Given the description of an element on the screen output the (x, y) to click on. 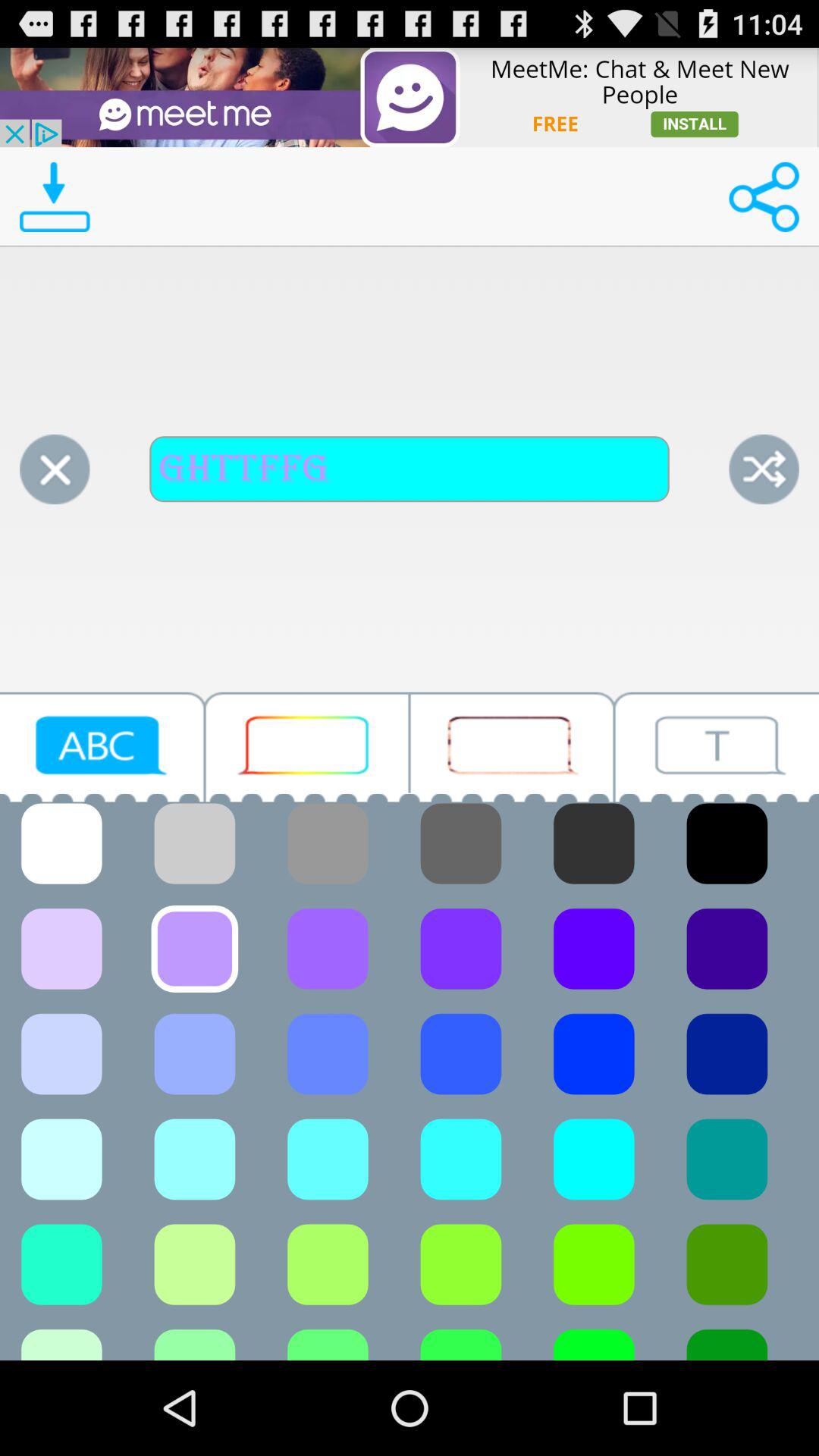
select and go (764, 469)
